Given the description of an element on the screen output the (x, y) to click on. 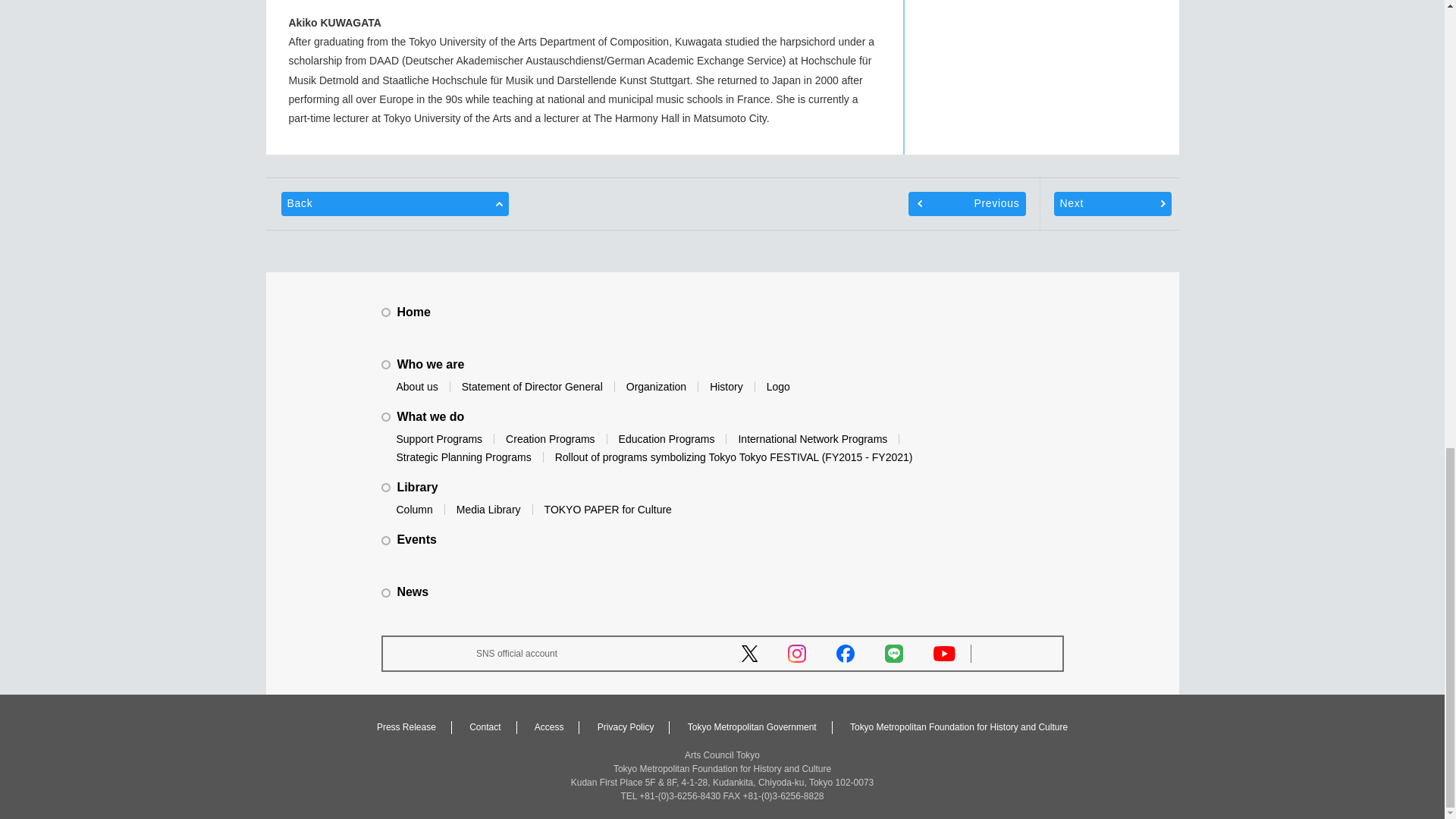
Facebook (844, 653)
YouTube (944, 653)
LINE (893, 653)
Instagram (796, 653)
X (749, 653)
